Given the description of an element on the screen output the (x, y) to click on. 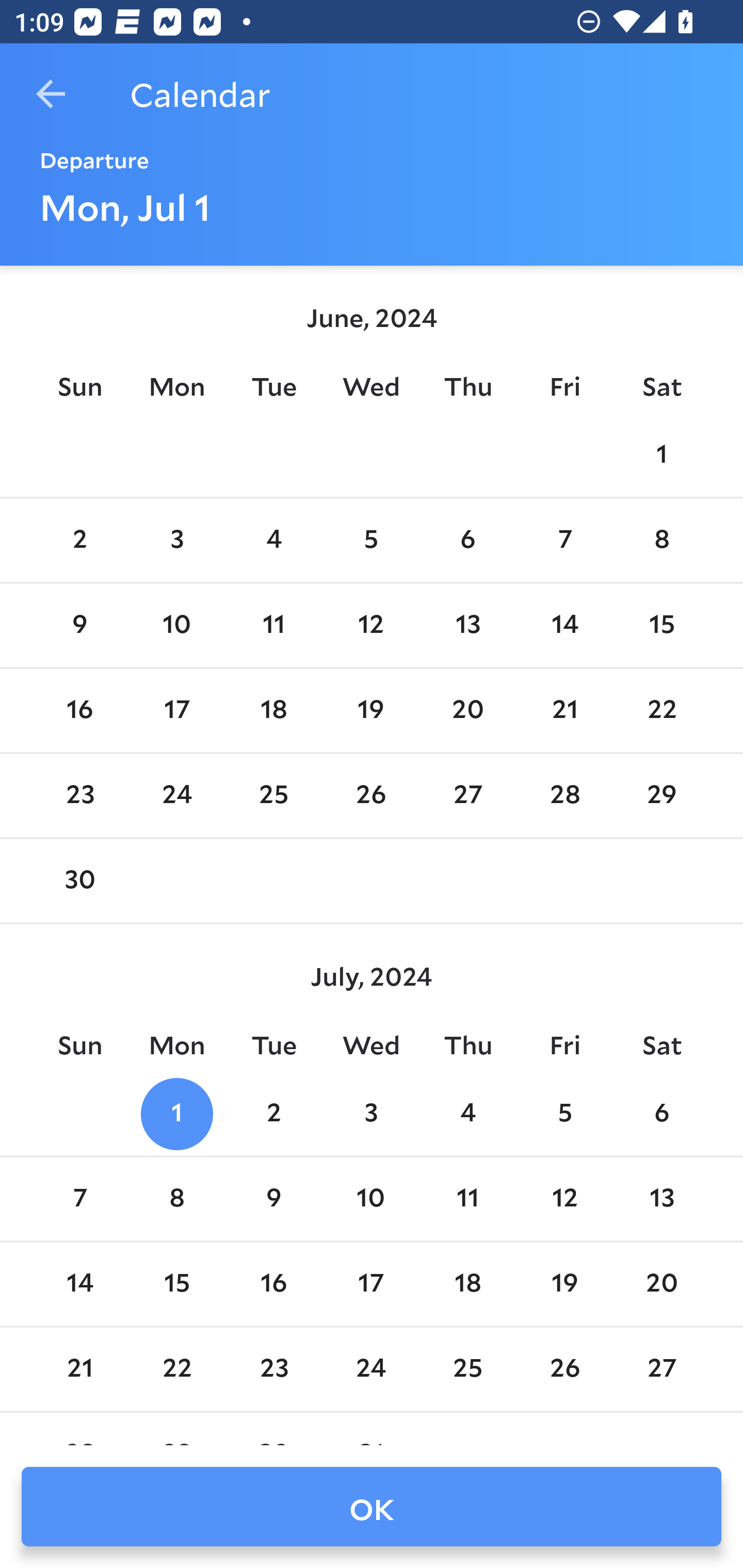
Navigate up (50, 93)
1 (661, 454)
2 (79, 540)
3 (177, 540)
4 (273, 540)
5 (371, 540)
6 (467, 540)
7 (565, 540)
8 (661, 540)
9 (79, 625)
10 (177, 625)
11 (273, 625)
12 (371, 625)
13 (467, 625)
14 (565, 625)
15 (661, 625)
16 (79, 710)
17 (177, 710)
18 (273, 710)
19 (371, 710)
20 (467, 710)
21 (565, 710)
22 (661, 710)
23 (79, 796)
24 (177, 796)
25 (273, 796)
26 (371, 796)
27 (467, 796)
28 (565, 796)
29 (661, 796)
30 (79, 881)
1 (177, 1114)
2 (273, 1114)
3 (371, 1114)
4 (467, 1114)
5 (565, 1114)
6 (661, 1114)
7 (79, 1199)
8 (177, 1199)
9 (273, 1199)
10 (371, 1199)
11 (467, 1199)
12 (565, 1199)
13 (661, 1199)
14 (79, 1284)
15 (177, 1284)
16 (273, 1284)
17 (371, 1284)
18 (467, 1284)
19 (565, 1284)
20 (661, 1284)
21 (79, 1368)
22 (177, 1368)
23 (273, 1368)
24 (371, 1368)
25 (467, 1368)
26 (565, 1368)
27 (661, 1368)
OK (371, 1506)
